Given the description of an element on the screen output the (x, y) to click on. 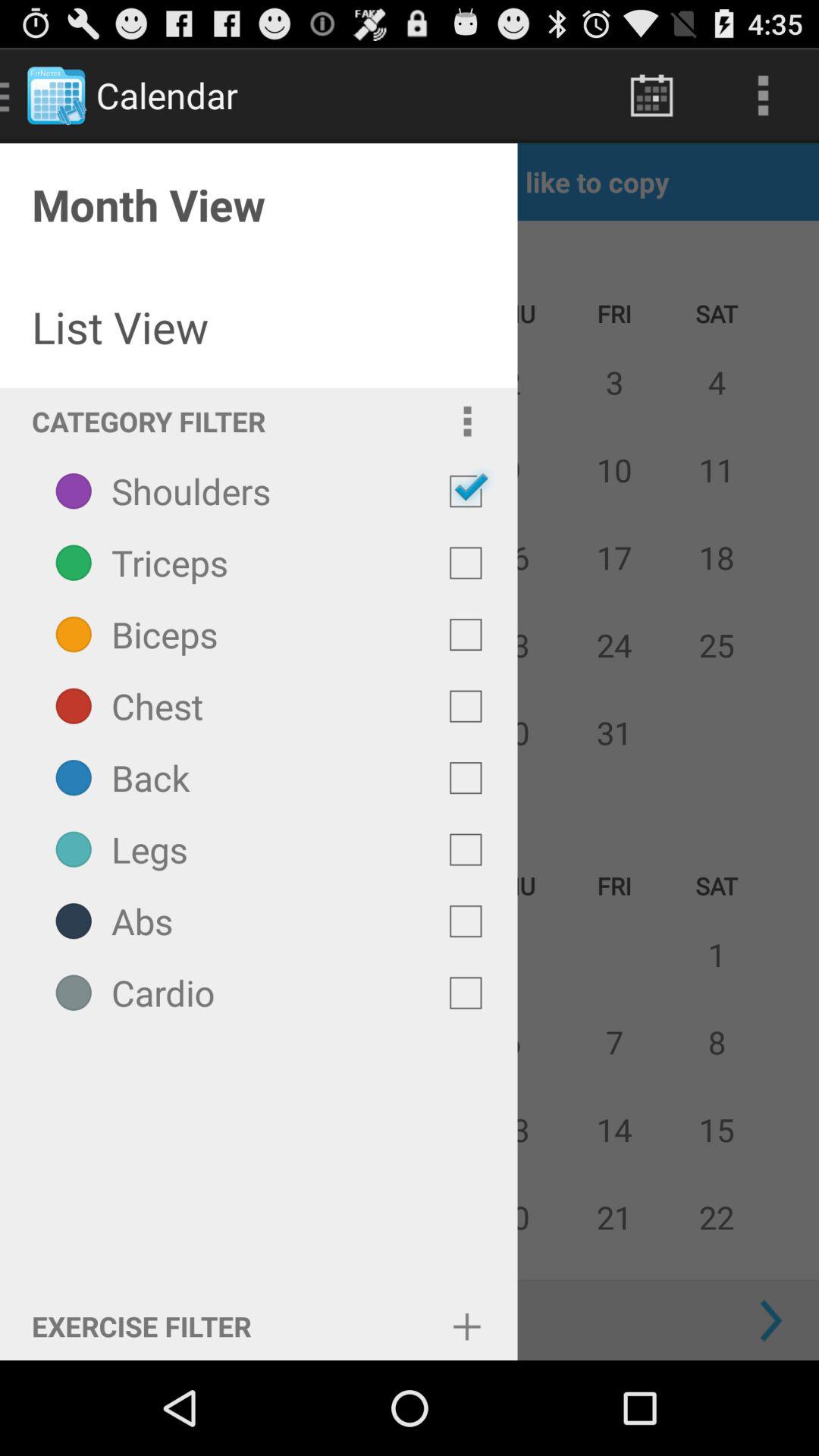
click on violet dot (73, 490)
